Given the description of an element on the screen output the (x, y) to click on. 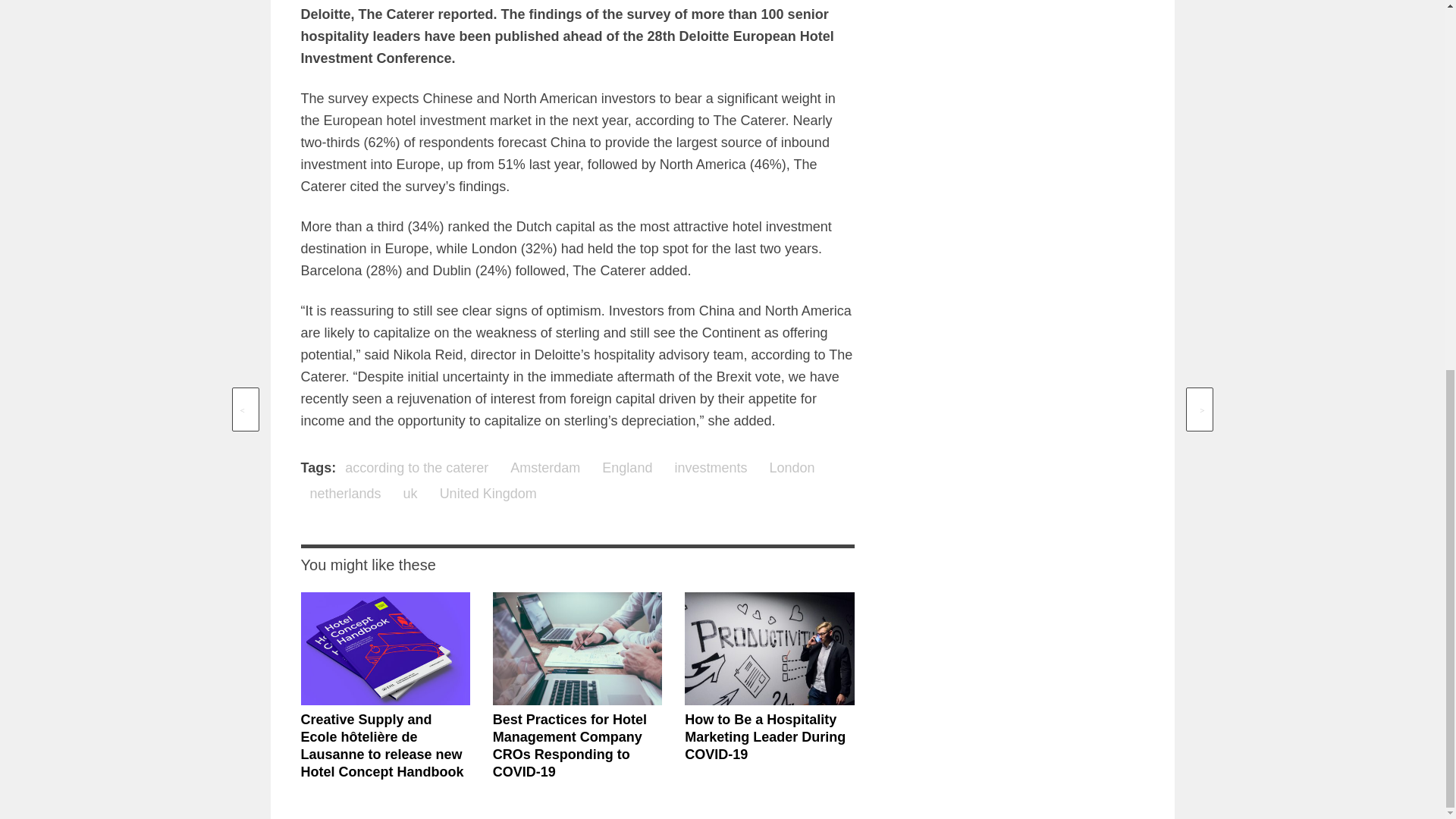
London (792, 467)
How to Be a Hospitality Marketing Leader During COVID-19 (764, 736)
according to the caterer (416, 467)
England (626, 467)
investments (710, 467)
uk (410, 494)
Amsterdam (544, 467)
United Kingdom (488, 494)
netherlands (344, 494)
